Given the description of an element on the screen output the (x, y) to click on. 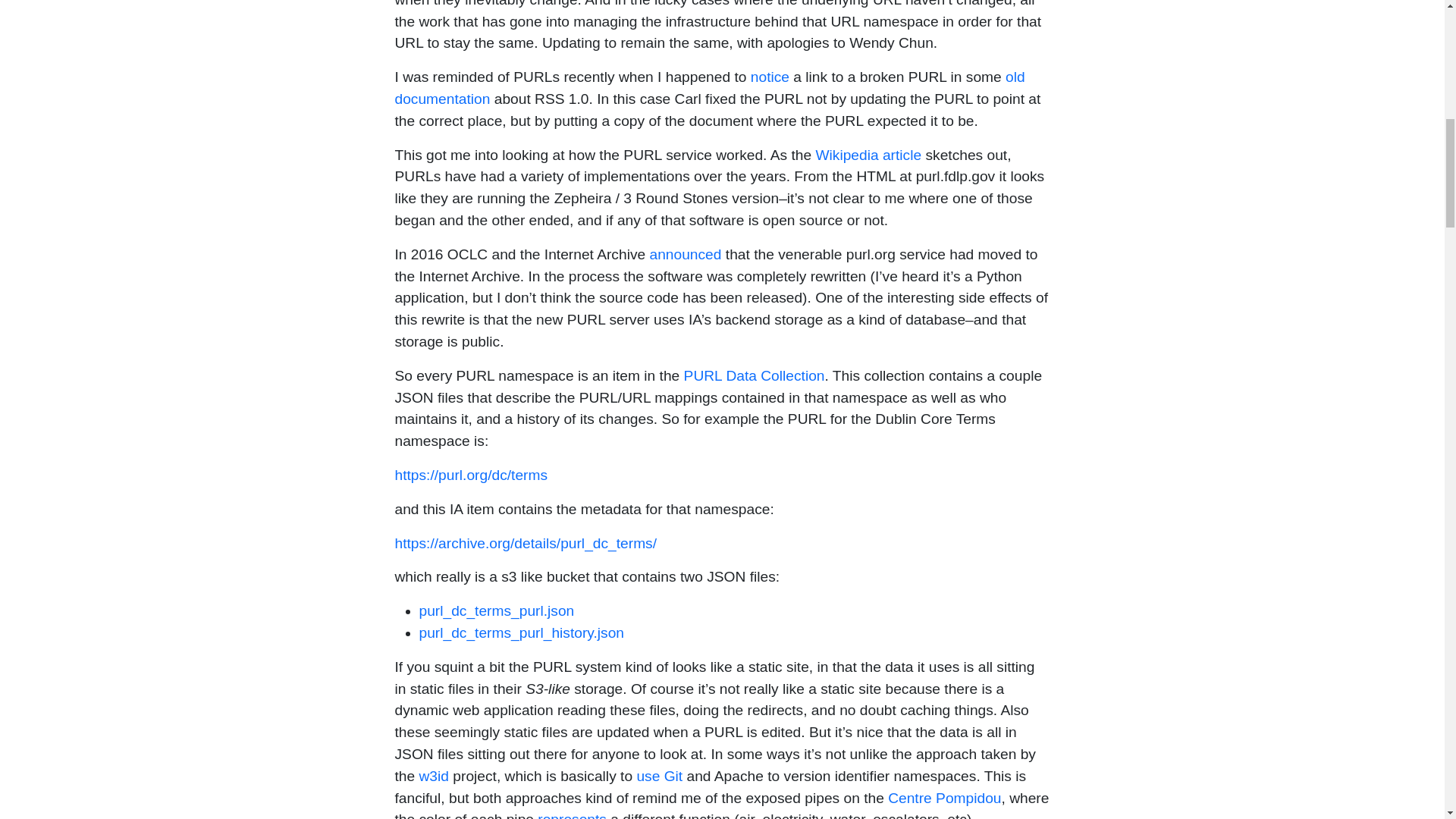
notice (770, 76)
announced (684, 254)
old documentation (709, 87)
Wikipedia article (868, 154)
w3id (433, 775)
use Git (659, 775)
PURL Data Collection (754, 375)
represents (572, 815)
Centre Pompidou (944, 797)
